Given the description of an element on the screen output the (x, y) to click on. 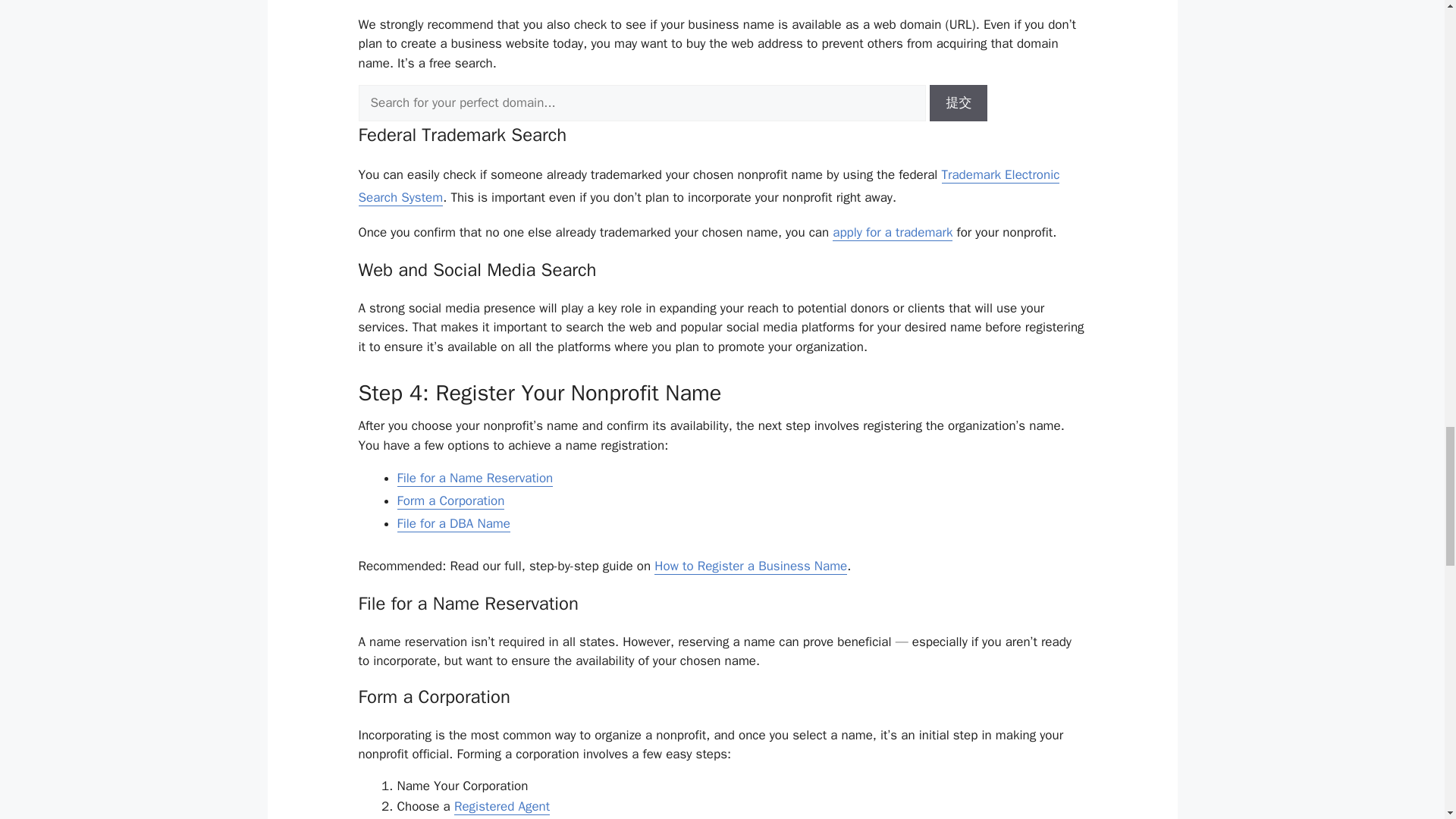
How to Register a Business Name (750, 565)
File for a DBA Name (454, 523)
File for a Name Reservation (475, 478)
Trademark Electronic Search System (708, 186)
Registered Agent (502, 806)
Form a Corporation (451, 501)
apply for a trademark (892, 232)
